Given the description of an element on the screen output the (x, y) to click on. 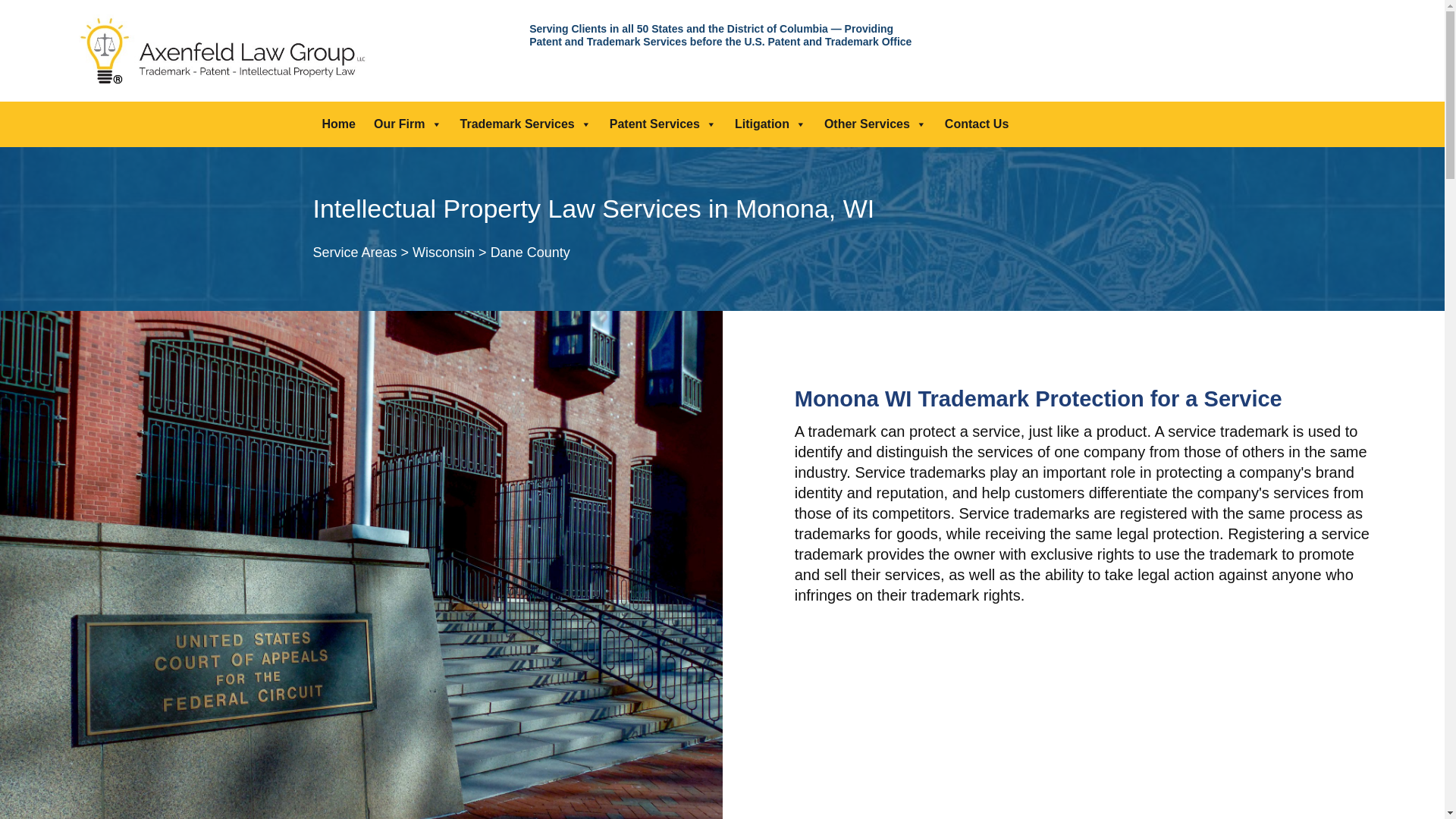
Trademark Services (525, 124)
Patent Services (662, 124)
Our Firm (408, 124)
Litigation (770, 124)
Home (338, 124)
